Given the description of an element on the screen output the (x, y) to click on. 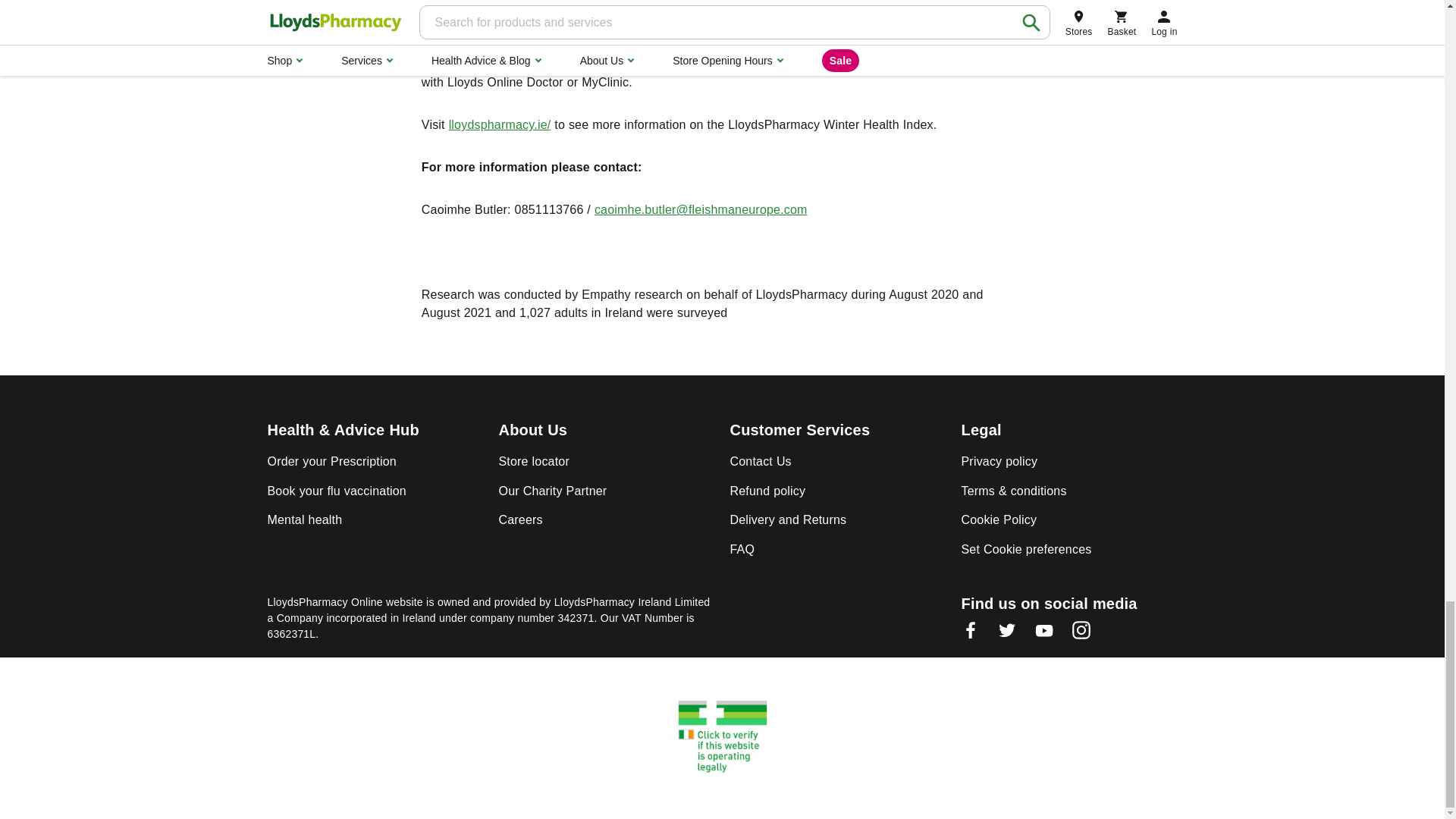
LloydsPharmacy on Instagram (1080, 634)
LloydsPharmacy on X (1006, 634)
LloydsPharmacy on Facebook (969, 634)
LloydsPharmacy on YouTube (1043, 634)
